Given the description of an element on the screen output the (x, y) to click on. 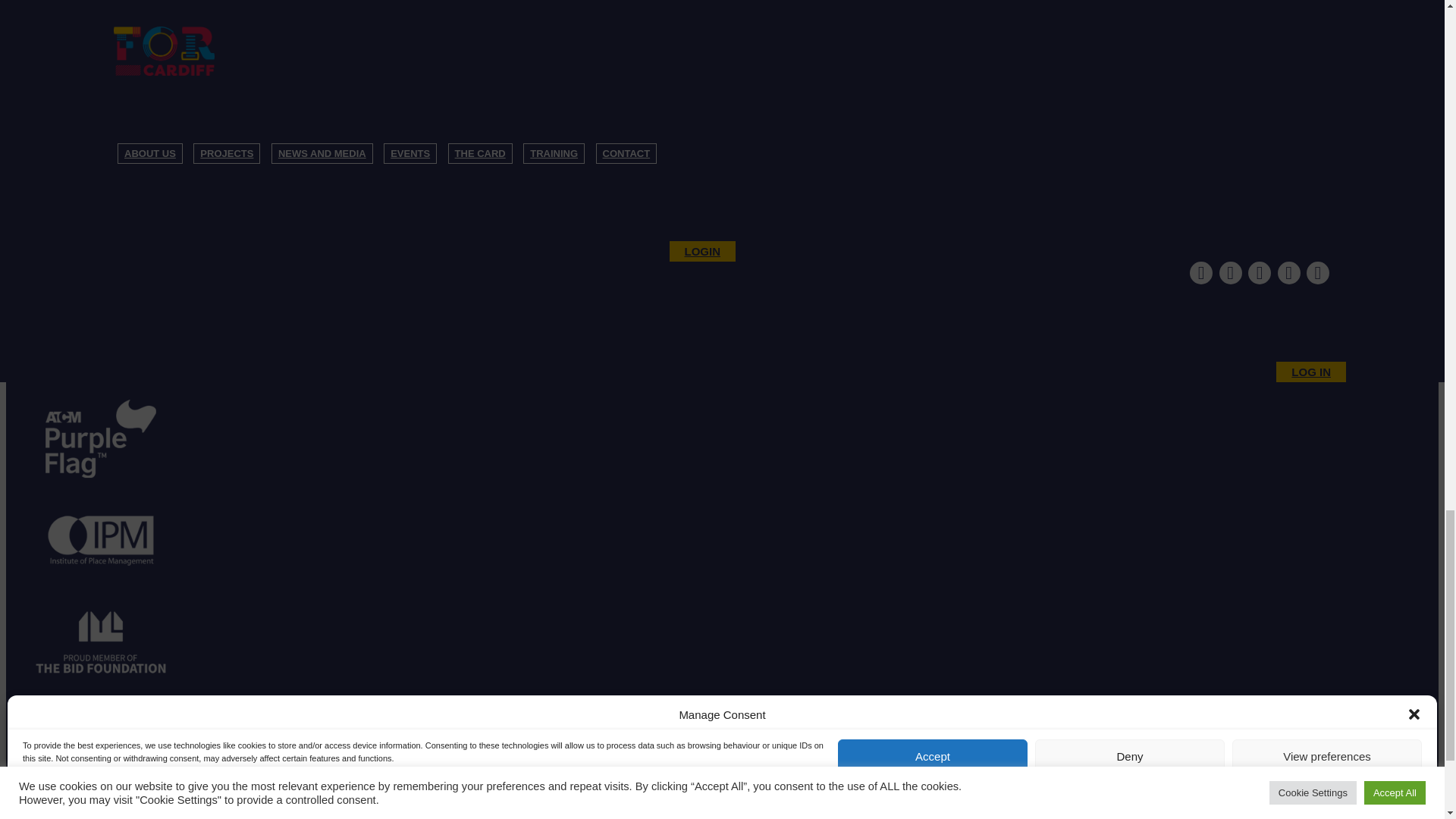
Submit (40, 247)
